Given the description of an element on the screen output the (x, y) to click on. 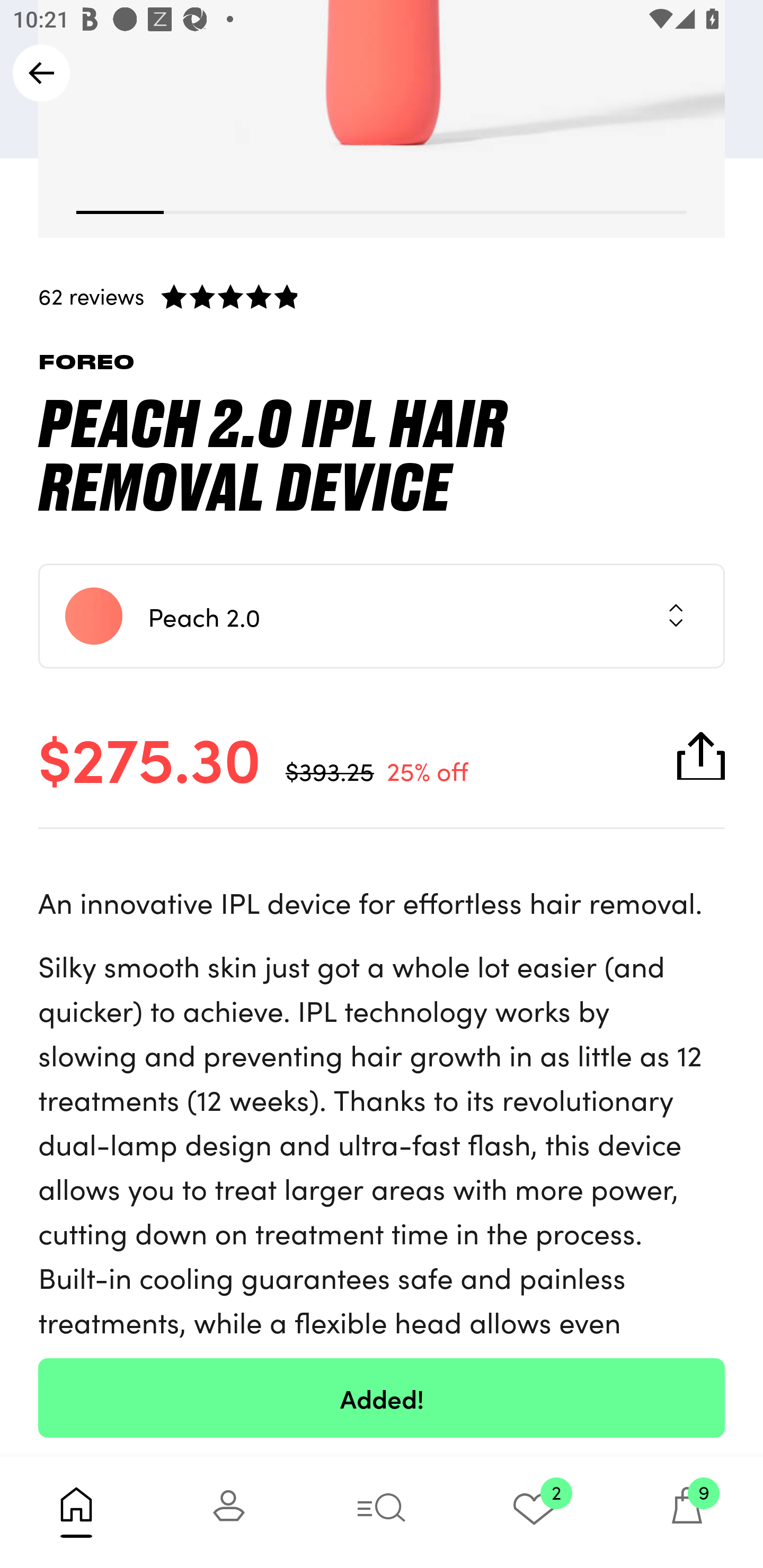
62 reviews (381, 295)
Peach 2.0  (381, 614)
Added! (381, 1397)
2 (533, 1512)
9 (686, 1512)
